Given the description of an element on the screen output the (x, y) to click on. 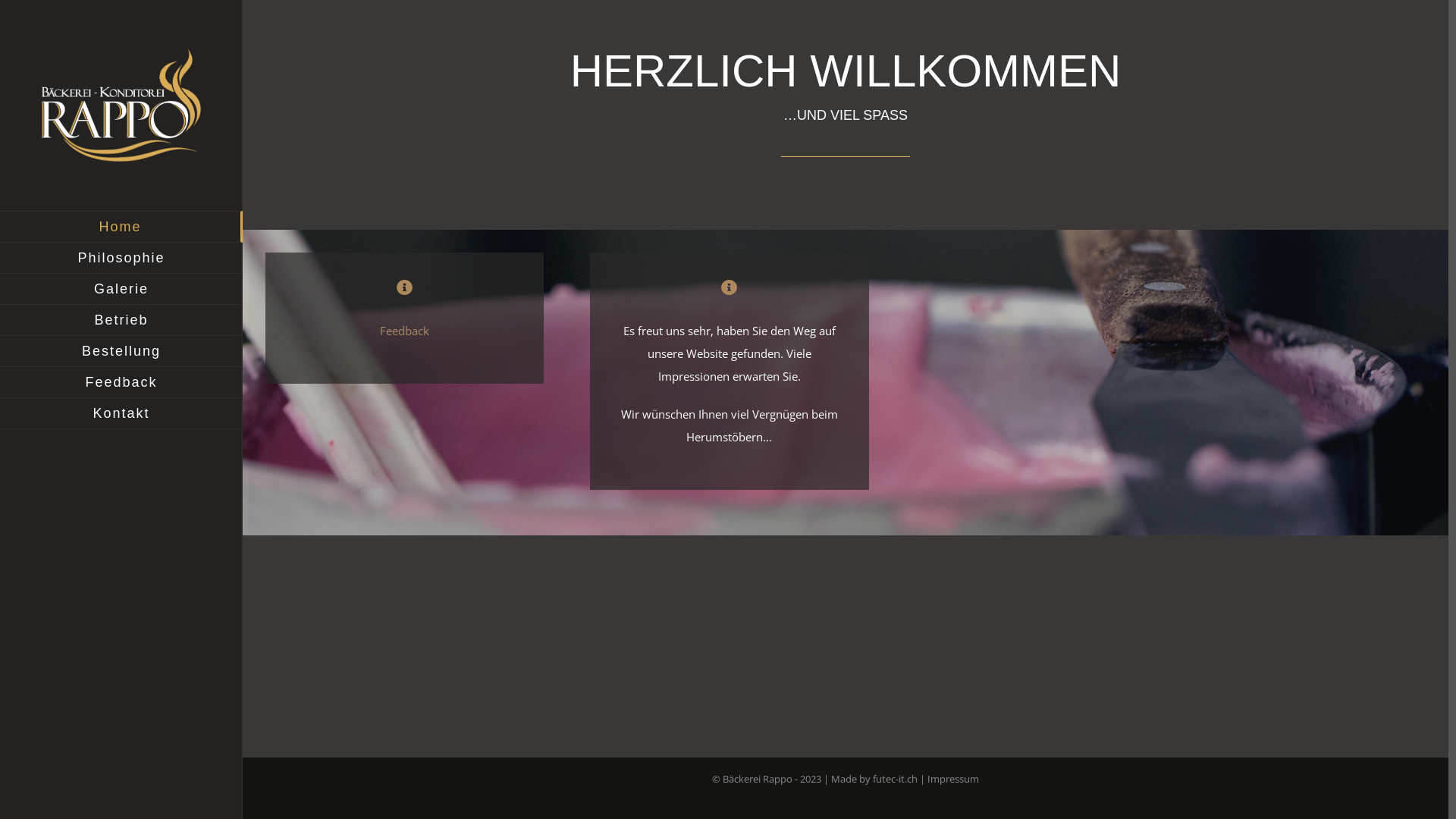
Feedback Element type: text (404, 330)
Betrieb Element type: text (121, 319)
futec-it.ch Element type: text (893, 778)
Feedback Element type: text (121, 382)
Bestellung Element type: text (121, 351)
Impressum Element type: text (953, 778)
Kontakt Element type: text (121, 413)
Home Element type: text (121, 226)
Philosophie Element type: text (121, 257)
Galerie Element type: text (121, 288)
